Given the description of an element on the screen output the (x, y) to click on. 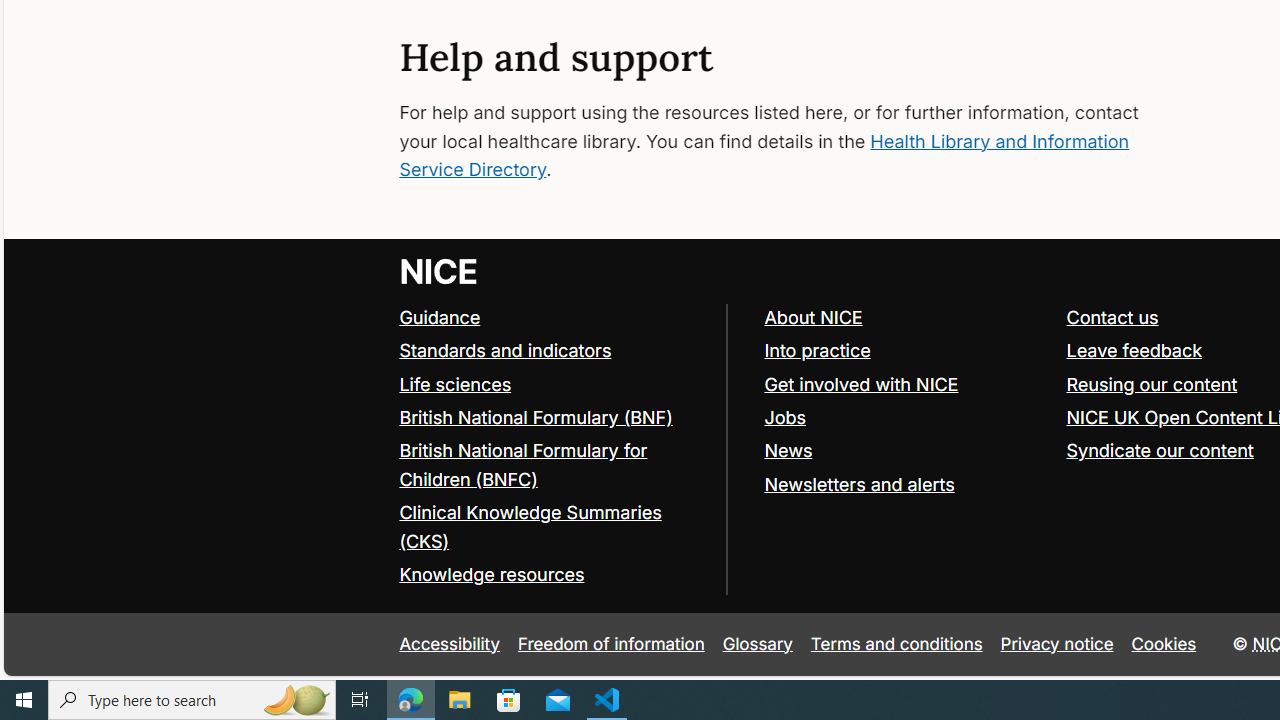
Get involved with NICE (906, 385)
British National Formulary for Children (BNFC) (523, 465)
Jobs (785, 417)
Glossary (757, 644)
Newsletters and alerts (906, 484)
Freedom of information (611, 644)
Go to NICE home page (439, 272)
Accessibility (449, 644)
Glossary (757, 644)
Cookies (1163, 644)
Get involved with NICE (861, 383)
